Given the description of an element on the screen output the (x, y) to click on. 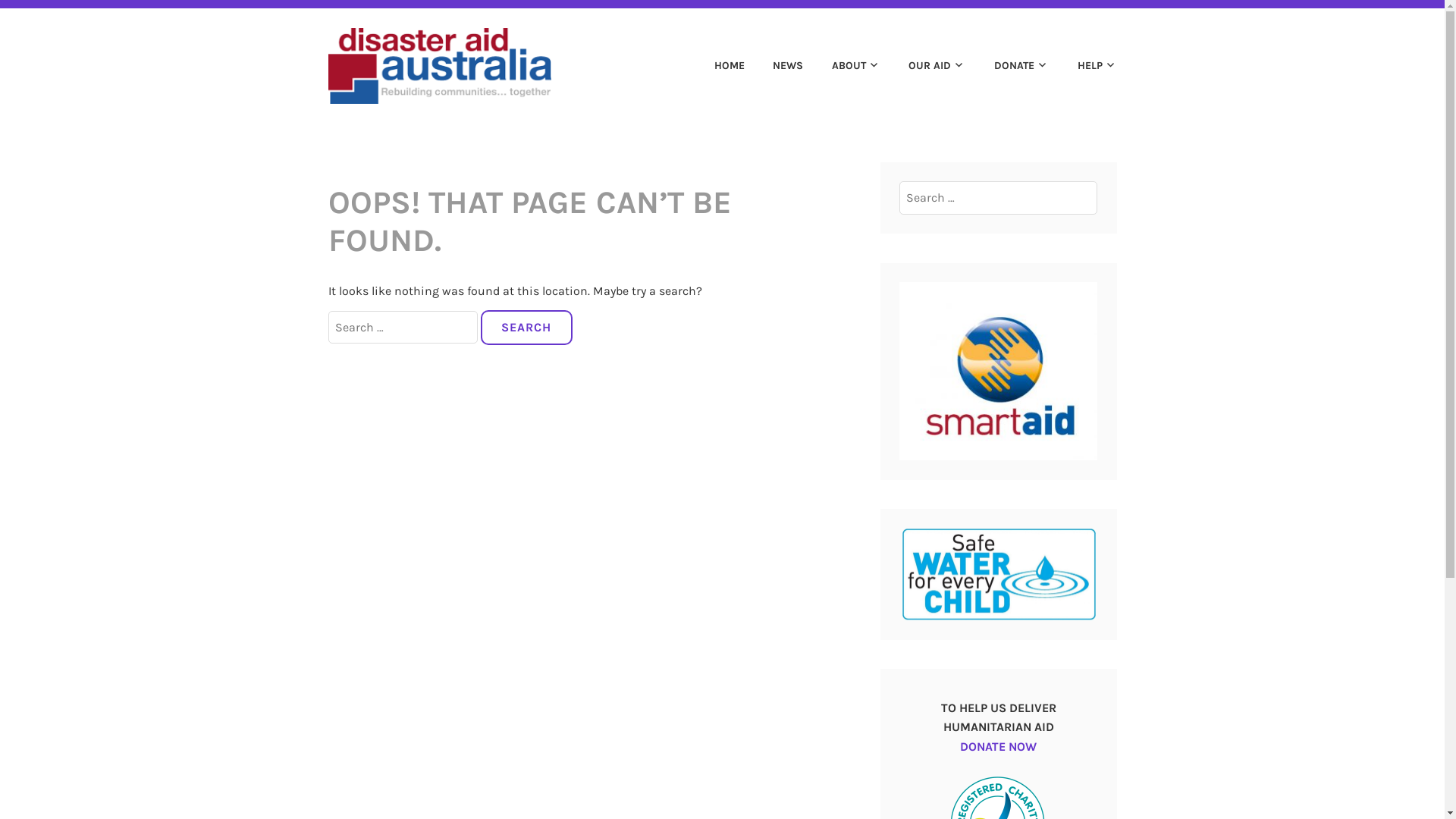
DONATE NOW Element type: text (1007, 756)
DONATE Element type: text (1008, 65)
HOME Element type: text (716, 65)
ABOUT Element type: text (843, 65)
NEWS Element type: text (775, 65)
Search Element type: text (45, 17)
HELP Element type: text (1084, 65)
Search Element type: text (526, 327)
OUR AID Element type: text (924, 65)
DISASTER AID AUSTRALIA Element type: text (750, 43)
